Given the description of an element on the screen output the (x, y) to click on. 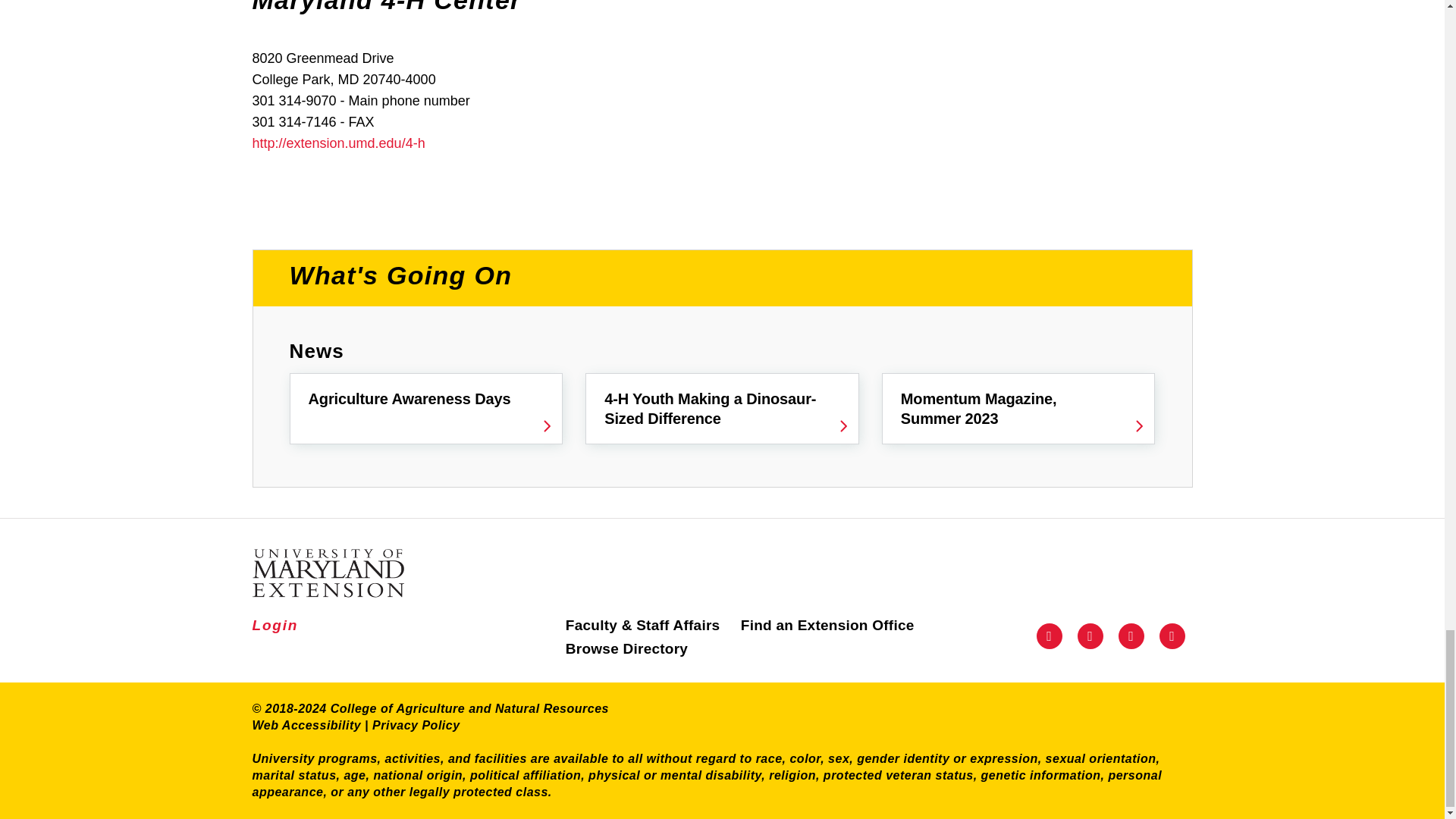
University of Maryland Extension logo (387, 572)
